Given the description of an element on the screen output the (x, y) to click on. 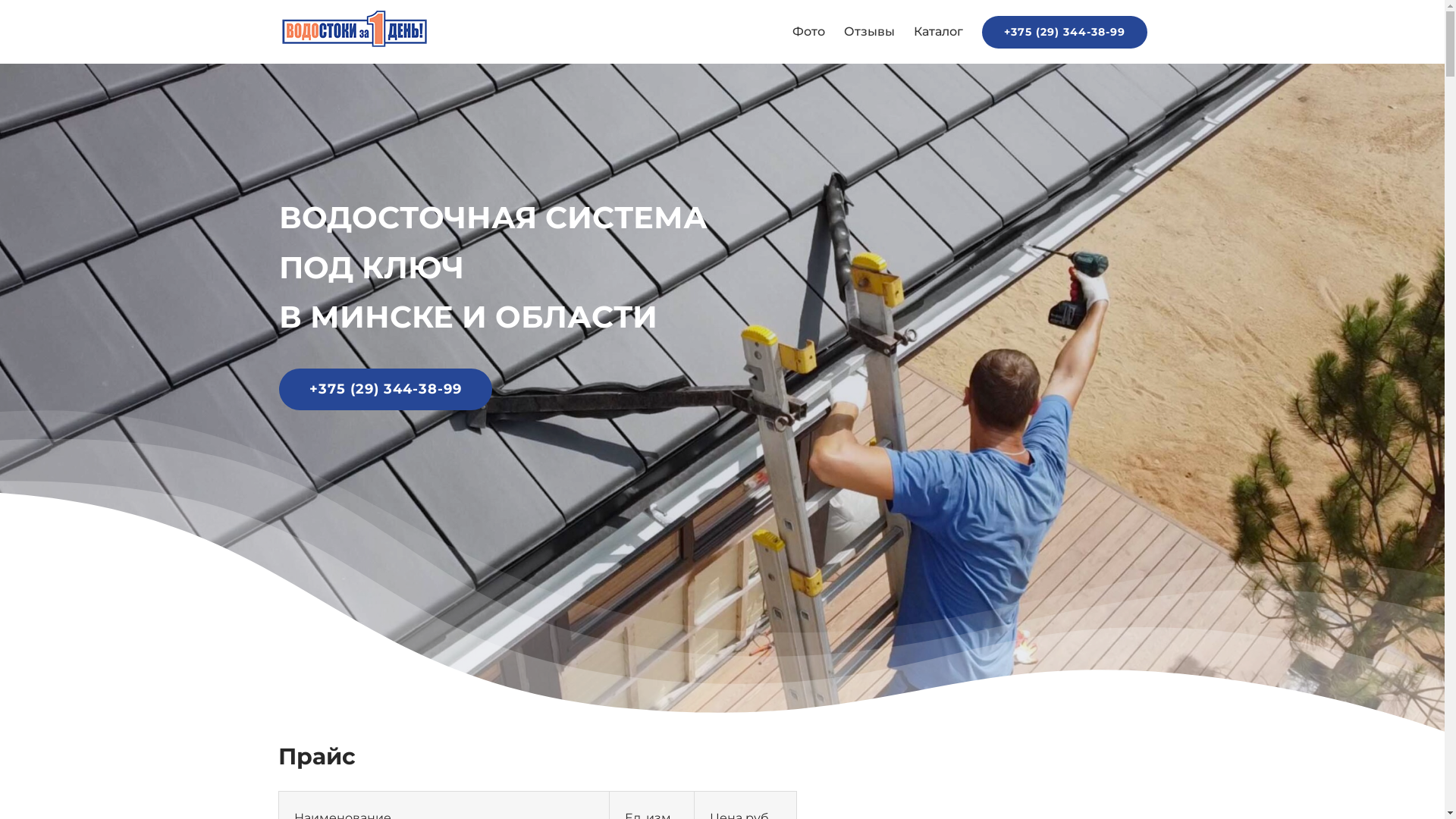
+375 (29) 344-38-99 Element type: text (385, 389)
+375 (29) 344-38-99 Element type: text (1063, 31)
